Given the description of an element on the screen output the (x, y) to click on. 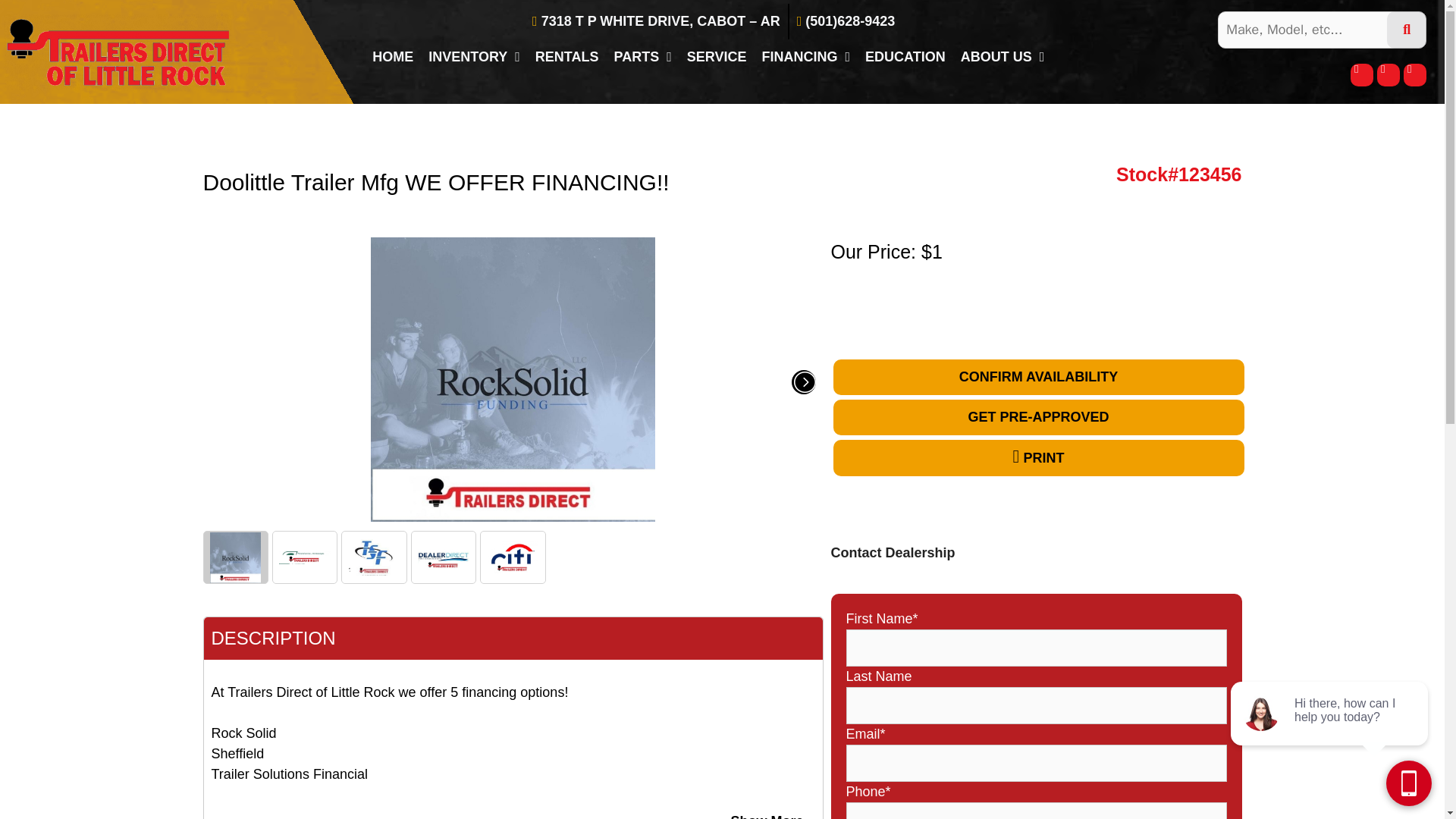
PARTS (643, 56)
RENTALS (567, 56)
EDUCATION (905, 56)
HOME (392, 56)
FINANCING (805, 56)
INVENTORY (473, 56)
SERVICE (716, 56)
ABOUT US (1002, 56)
